Given the description of an element on the screen output the (x, y) to click on. 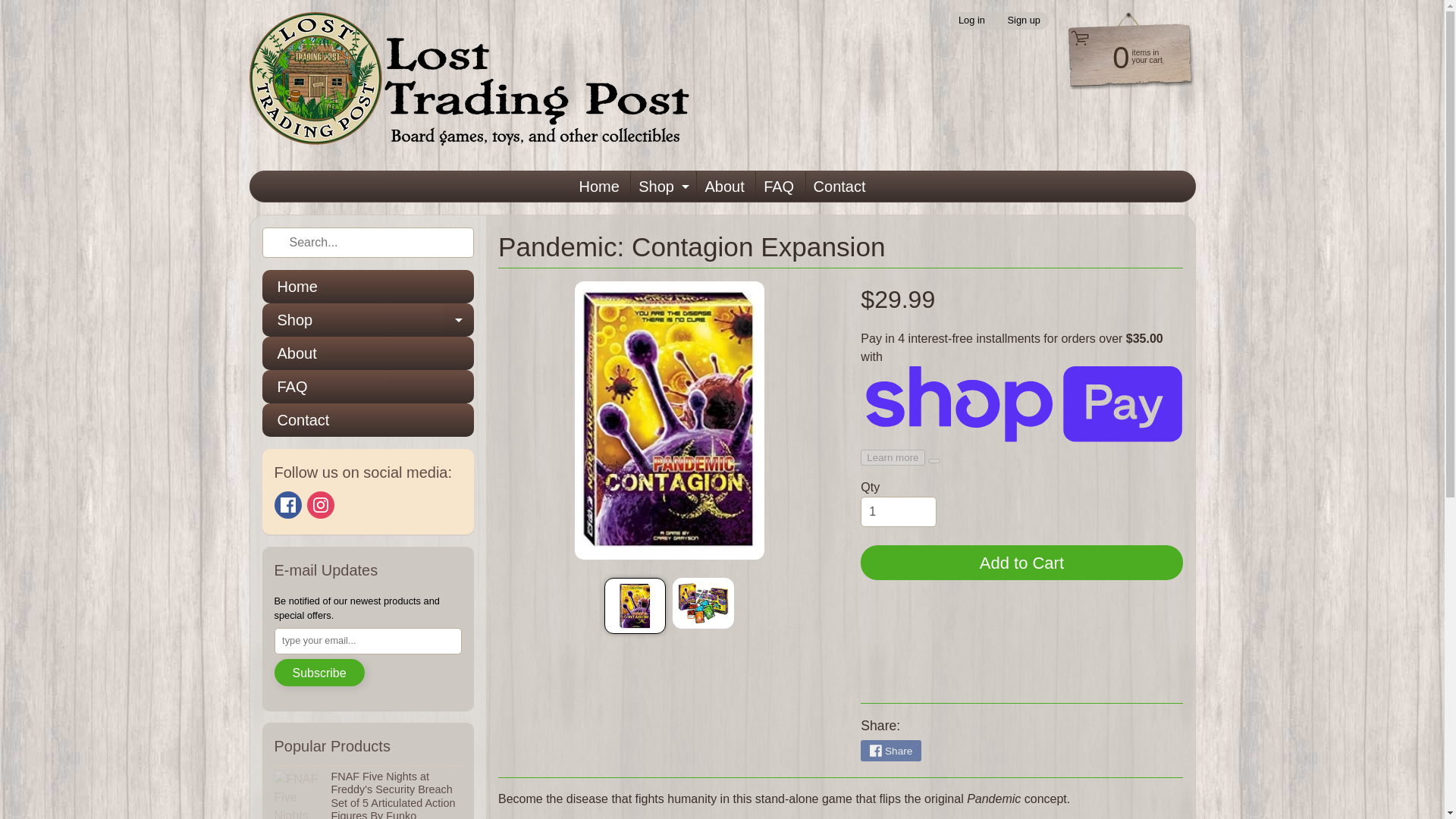
Share on Facebook (890, 750)
Sign up (661, 186)
Facebook (1024, 20)
Contact (288, 504)
Log in (839, 186)
Pandemic: Contagion Expansion (970, 20)
1 (702, 603)
About (898, 511)
Pandemic: Contagion Expansion (724, 186)
Home (634, 605)
FAQ (368, 319)
Home (598, 186)
